Given the description of an element on the screen output the (x, y) to click on. 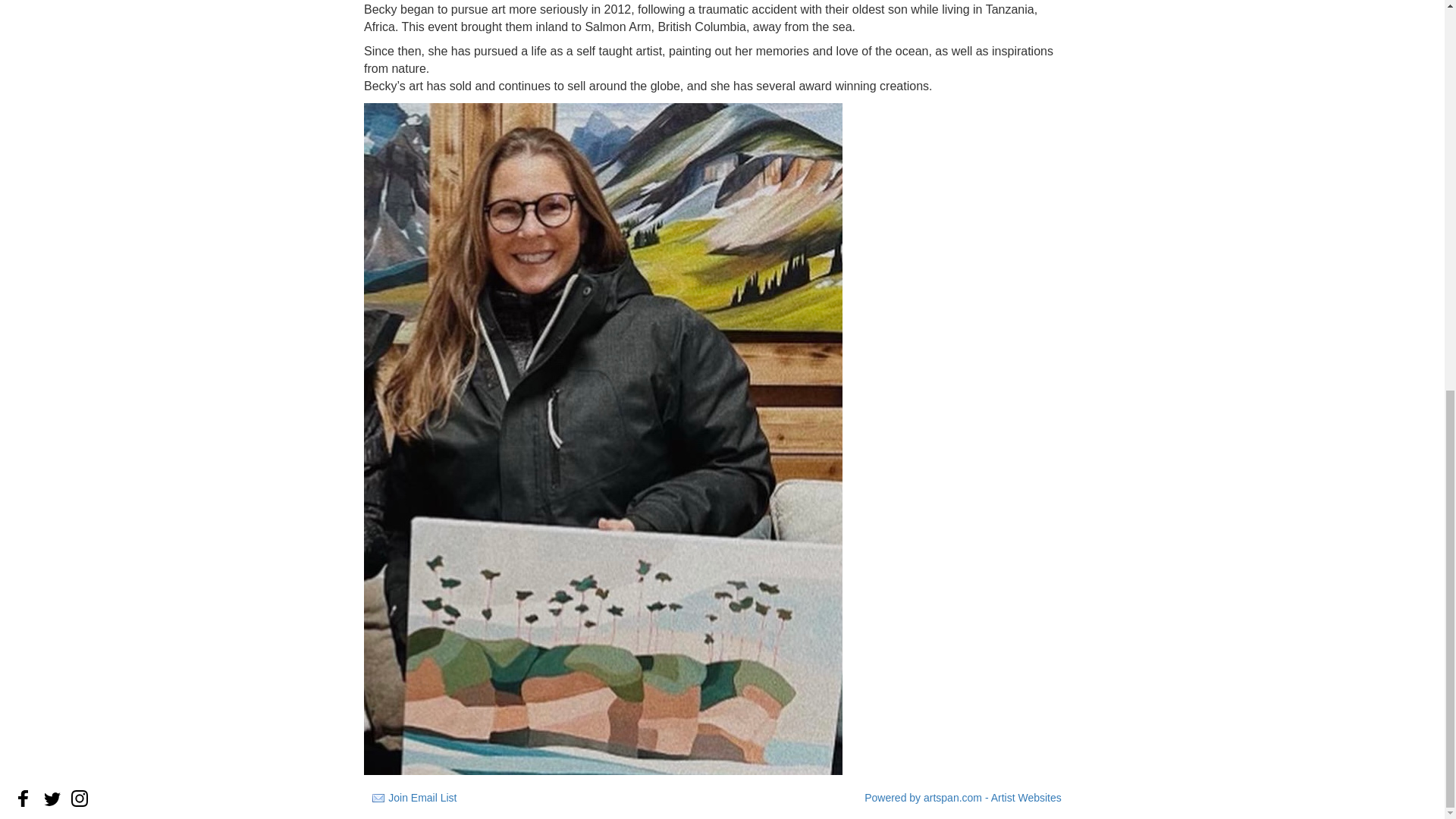
Powered by artspan.com - Artist Websites (962, 797)
Join Email List (422, 797)
Follow on Facebook (22, 798)
Follow on Instagram (78, 798)
Follow on Twitter (51, 798)
